Given the description of an element on the screen output the (x, y) to click on. 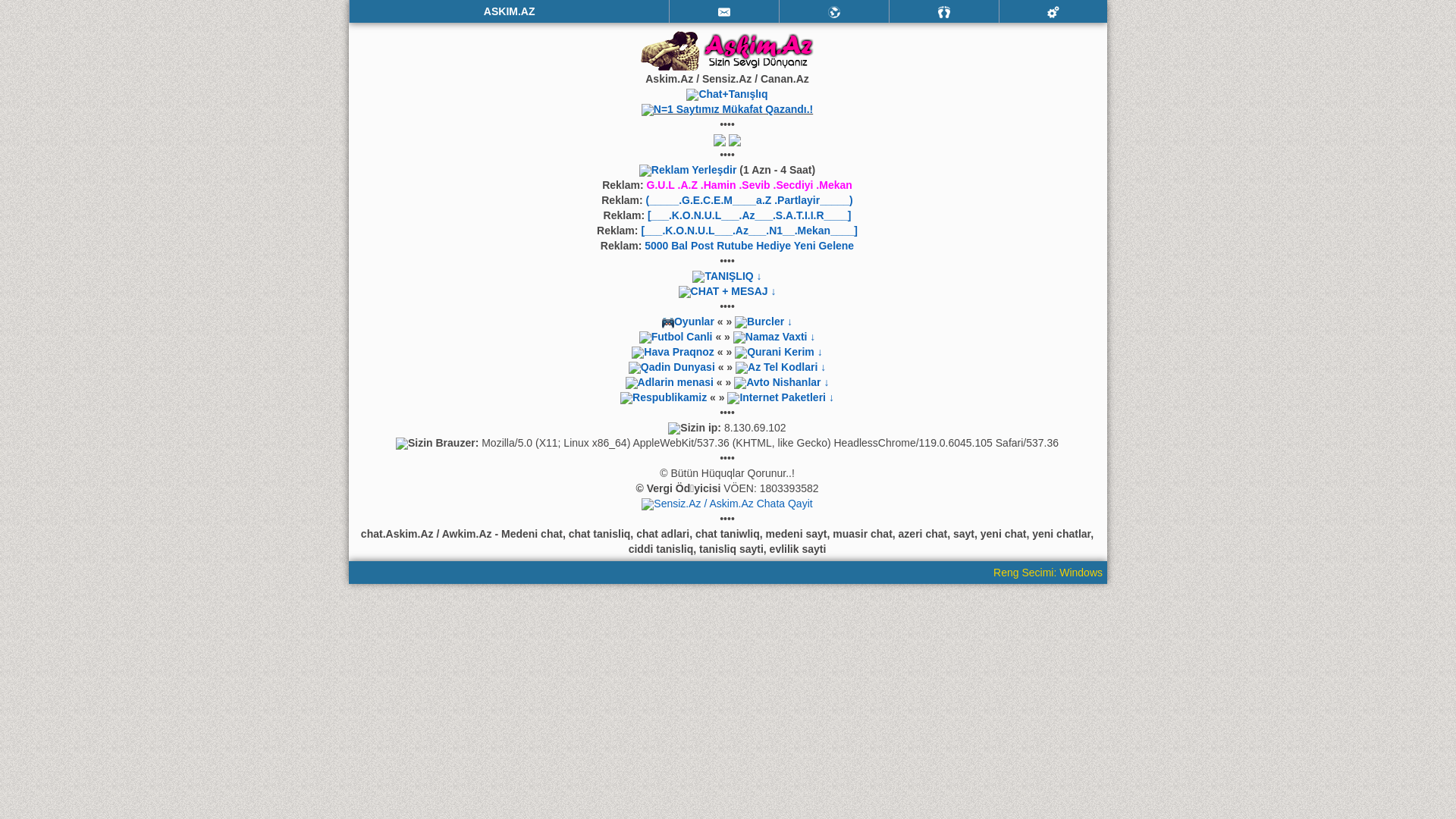
Futbol Canli Element type: text (681, 336)
Qadin Dunyasi Element type: text (677, 366)
[___.K.O.N.U.L___.Az___.S.A.T.I.I.R____] Element type: text (748, 215)
Mesajlar Element type: hover (724, 12)
(_____.G.E.C.E.M____a.Z .Partlayir_____) Element type: text (749, 200)
Mesajlar Element type: hover (723, 11)
Qonaqlar Element type: hover (943, 11)
5000 Bal Post Rutube Hediye Yeni Gelene Element type: text (748, 245)
ASKIM.AZ Element type: text (508, 11)
Mektublar Element type: hover (834, 12)
Sensiz.Az / Askim.Az Chata Qayit Element type: text (732, 503)
Mektublar Element type: hover (833, 11)
Oyunlar Element type: text (689, 321)
Hava Praqnoz Element type: text (678, 351)
Respublikamiz Element type: text (669, 397)
Reng Secimi: Windows Element type: text (1050, 572)
[___.K.O.N.U.L___.Az___.N1__.Mekan____] Element type: text (748, 230)
G.U.L .A.Z .Hamin .Sevib .Secdiyi .Mekan Element type: text (749, 184)
Qonaqlar Element type: hover (944, 12)
Adlarin menasi Element type: text (675, 382)
